Given the description of an element on the screen output the (x, y) to click on. 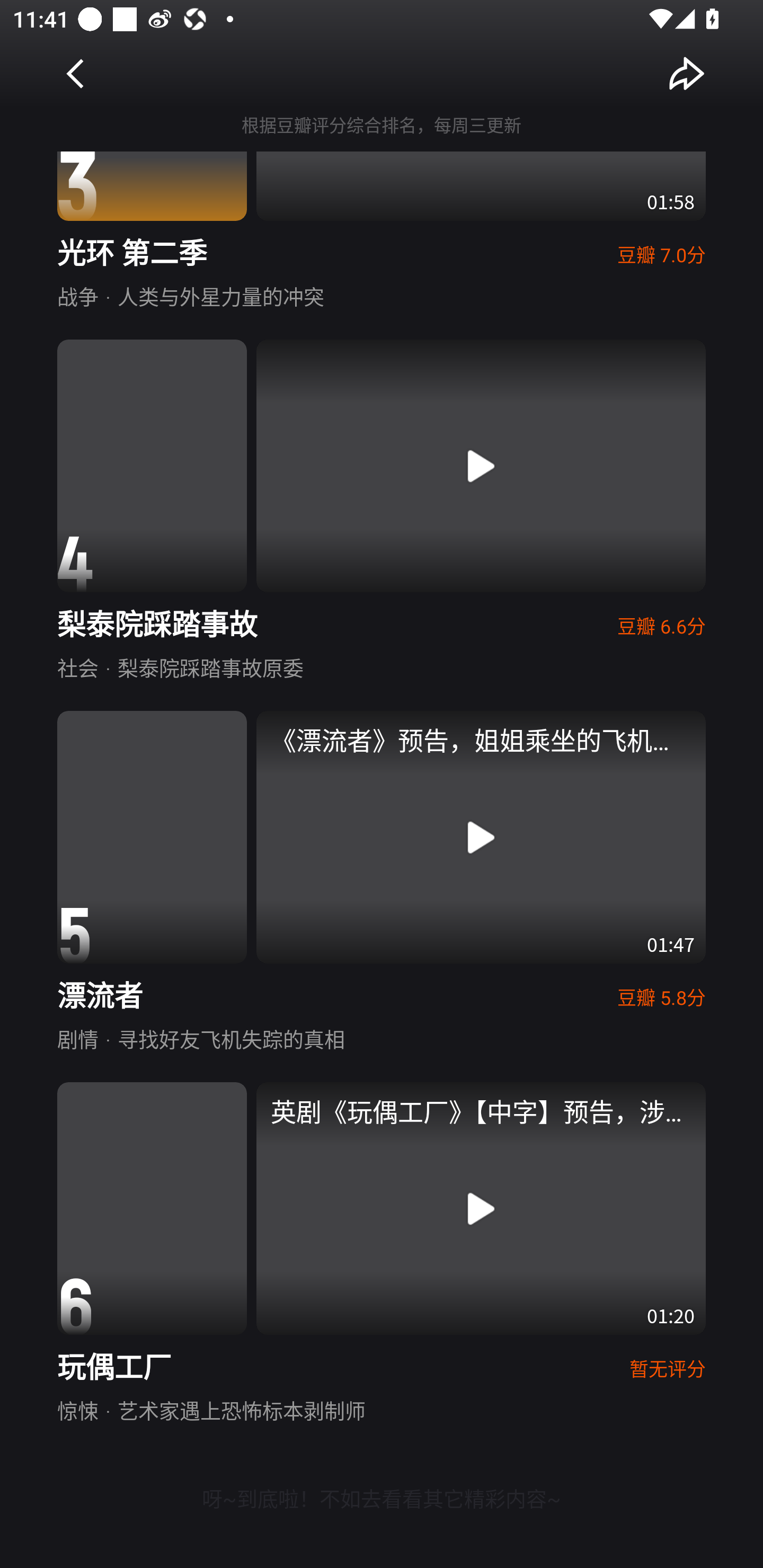
 返回 (76, 72)
 分享 (686, 72)
战争 (77, 295)
人类与外星力量的冲突 (220, 295)
社会 (77, 667)
梨泰院踩踏事故原委 (210, 667)
剧情 (77, 1037)
寻找好友飞机失踪的真相 (230, 1037)
惊悚 (77, 1409)
艺术家遇上恐怖标本剥制师 (241, 1409)
